Given the description of an element on the screen output the (x, y) to click on. 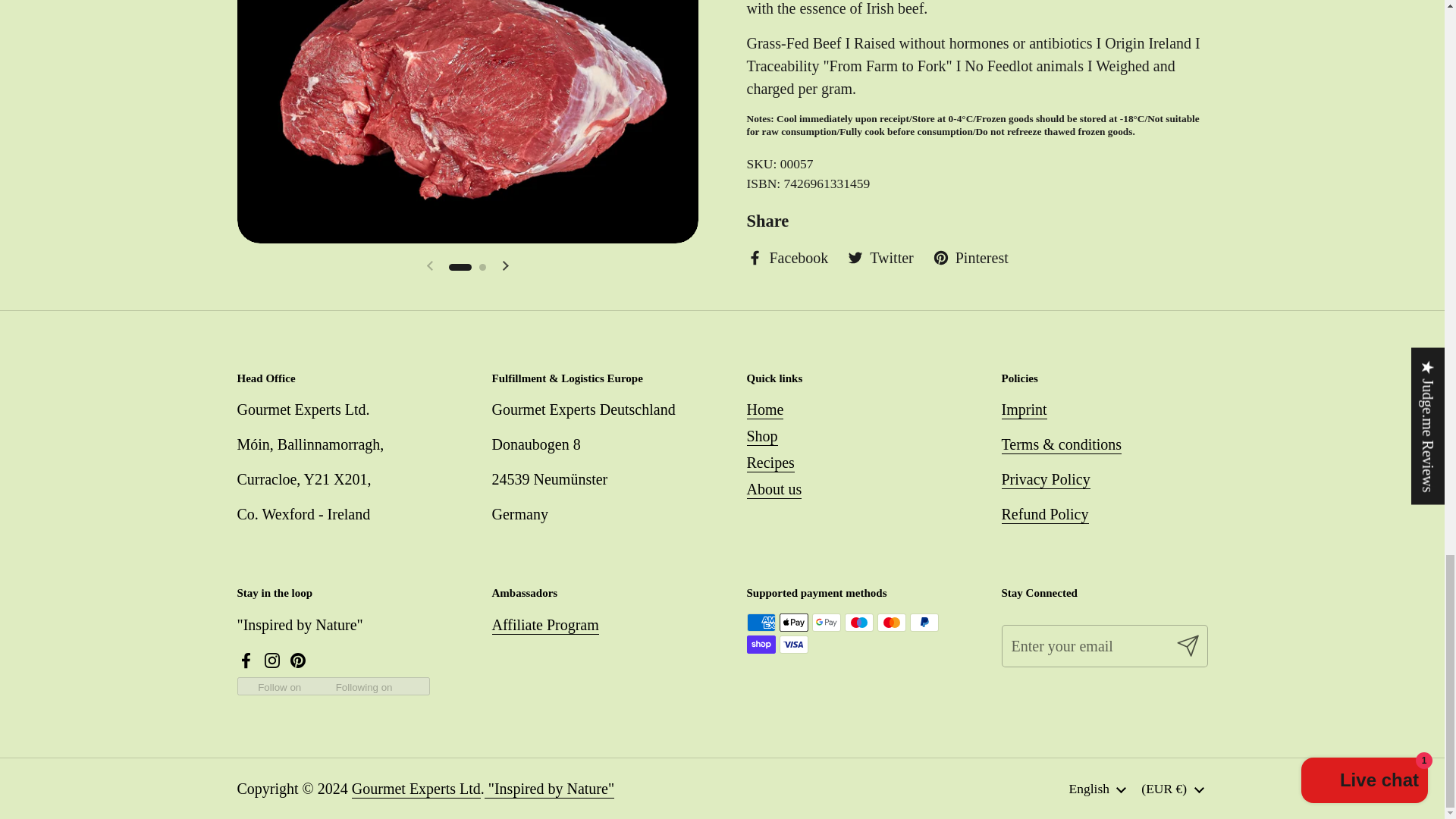
Share on facebook (786, 257)
Contact Information (1023, 410)
Refund Policy (1044, 515)
Share on twitter (879, 257)
Privacy Policy (1045, 479)
Share on pinterest (971, 257)
Terms of Service (1061, 444)
